Given the description of an element on the screen output the (x, y) to click on. 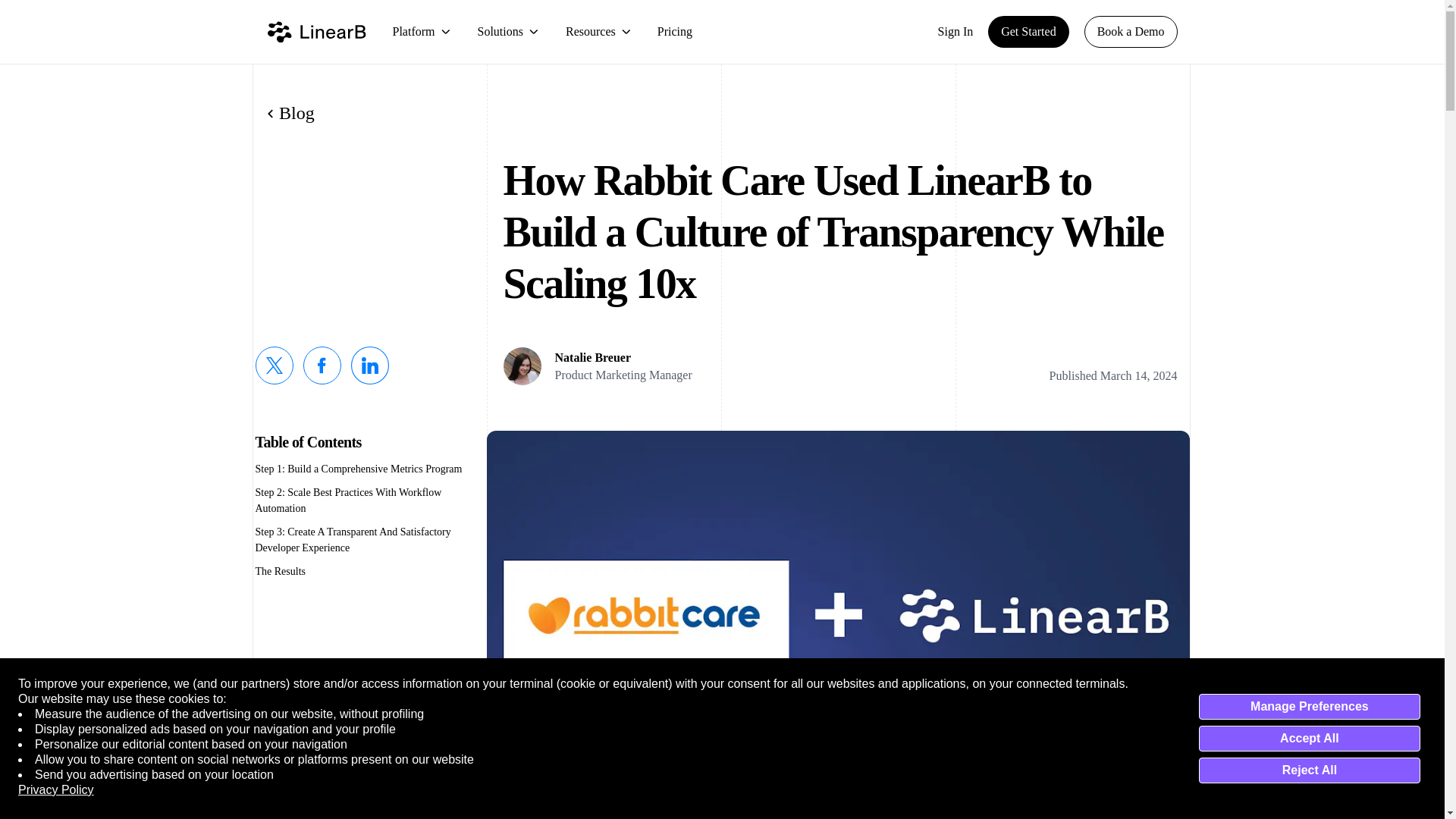
Solutions (508, 31)
Platform (421, 31)
Manage Preferences (1309, 706)
Resources (599, 31)
Accept All (1309, 738)
Book a Demo (1130, 31)
Privacy Policy (55, 789)
Blog (291, 113)
LinearB (315, 32)
Get Started (1028, 31)
Reject All (1309, 769)
Sign In (955, 31)
